Given the description of an element on the screen output the (x, y) to click on. 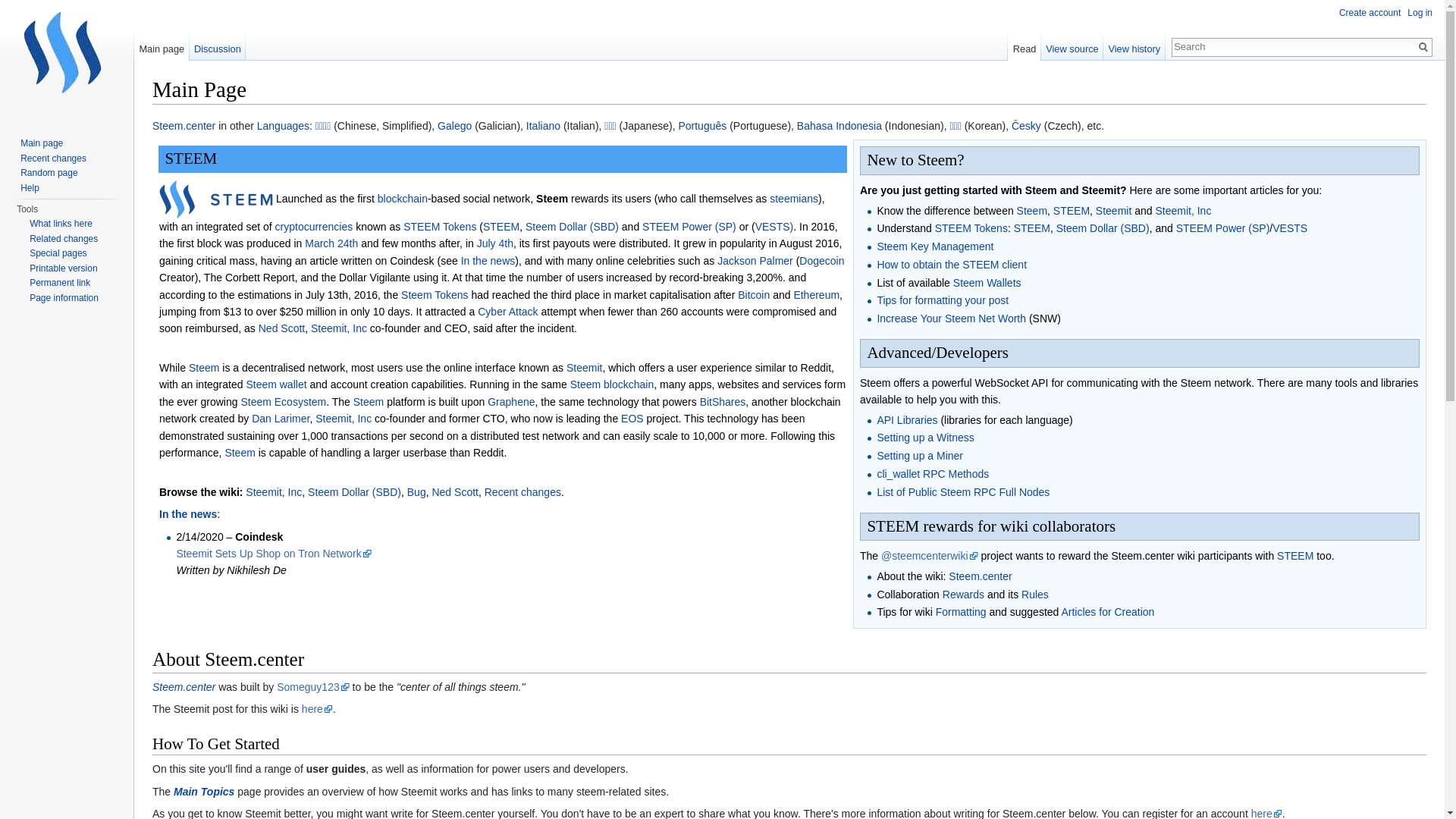
Steemit Sets Up Shop on Tron Network Element type: text (272, 553)
Permanent link Element type: text (59, 282)
Steemit, Inc Element type: text (338, 328)
Steem Element type: text (239, 452)
View history Element type: text (1134, 45)
Steemit, Inc Element type: text (343, 418)
Setting up a Witness Element type: text (924, 437)
Steem.center Element type: text (183, 125)
Galego Element type: text (454, 125)
Cyber Attack Element type: text (507, 311)
Related changes Element type: text (63, 238)
Bitcoin Element type: text (753, 294)
Search Steem Center [alt-shift-f] Element type: hover (1293, 45)
Steem Dollar (SBD) Element type: text (571, 226)
steemians Element type: text (793, 198)
Read Element type: text (1023, 45)
@steemcenterwiki Element type: text (929, 555)
Ned Scott Element type: text (454, 492)
Rewards Element type: text (963, 594)
Log in Element type: text (1419, 12)
Random page Element type: text (48, 172)
Steemit Element type: text (1113, 210)
Bug Element type: text (416, 492)
Ethereum Element type: text (816, 294)
In the news Element type: text (488, 260)
here Element type: text (316, 708)
View source Element type: text (1072, 45)
Someguy123 Element type: text (312, 686)
Languages Element type: text (283, 125)
BitShares Element type: text (722, 401)
Main page Element type: text (161, 45)
Special pages Element type: text (57, 252)
STEEM Tokens Element type: text (971, 228)
Visit the main page Element type: hover (66, 60)
Recent changes Element type: text (53, 158)
STEEM Element type: text (1031, 228)
In the news Element type: text (187, 514)
Steem Wallets Element type: text (987, 282)
blockchain Element type: text (402, 198)
Formatting Element type: text (960, 611)
List of Public Steem RPC Full Nodes Element type: text (962, 492)
Steem Element type: text (203, 367)
How to obtain the STEEM client Element type: text (951, 264)
Steem Dollar (SBD) Element type: text (1102, 228)
blockchain Element type: text (628, 384)
Steem Ecosystem Element type: text (283, 401)
Steemit Element type: text (584, 367)
Steem Element type: text (1031, 210)
Recent changes Element type: text (522, 492)
API Libraries Element type: text (906, 420)
Steemit, Inc Element type: text (273, 492)
March 24th Element type: text (330, 243)
Steem Key Management Element type: text (934, 246)
EOS Element type: text (632, 418)
Steem Tokens Element type: text (434, 294)
Articles for Creation Element type: text (1107, 611)
Main Topics Element type: text (203, 791)
Graphene Element type: text (510, 401)
Steem.center Element type: text (979, 576)
VESTS) Element type: text (774, 226)
Increase Your Steem Net Worth Element type: text (951, 318)
Setting up a Miner Element type: text (919, 455)
Create account Element type: text (1369, 12)
July 4th Element type: text (494, 243)
Bahasa Indonesia Element type: text (839, 125)
STEEM Element type: text (1071, 210)
STEEM Power (SP) Element type: text (689, 226)
Steem Element type: text (368, 401)
Discussion Element type: text (217, 45)
Italiano Element type: text (543, 125)
cli_wallet RPC Methods Element type: text (932, 473)
Go Element type: text (1423, 46)
Help Element type: text (29, 187)
Dogecoin Element type: text (821, 260)
STEEM Power (SP) Element type: text (1223, 228)
Steem Dollar (SBD) Element type: text (354, 492)
What links here Element type: text (60, 223)
Steem wallet Element type: text (275, 384)
VESTS Element type: text (1289, 228)
Main page Element type: text (41, 143)
Ned Scott Element type: text (281, 328)
Dan Larimer Element type: text (280, 418)
Steem.center Element type: text (183, 686)
Steemit, Inc Element type: text (1182, 210)
Rules Element type: text (1034, 594)
Page information Element type: text (63, 297)
cryptocurrencies Element type: text (314, 226)
Steem Element type: text (585, 384)
Printable version Element type: text (63, 267)
Go to a page with this exact name if it exists Element type: hover (1423, 46)
Tips for formatting your post Element type: text (942, 300)
STEEM Tokens Element type: text (439, 226)
Jackson Palmer Element type: text (755, 260)
STEEM Element type: text (501, 226)
STEEM Element type: text (1295, 555)
